Given the description of an element on the screen output the (x, y) to click on. 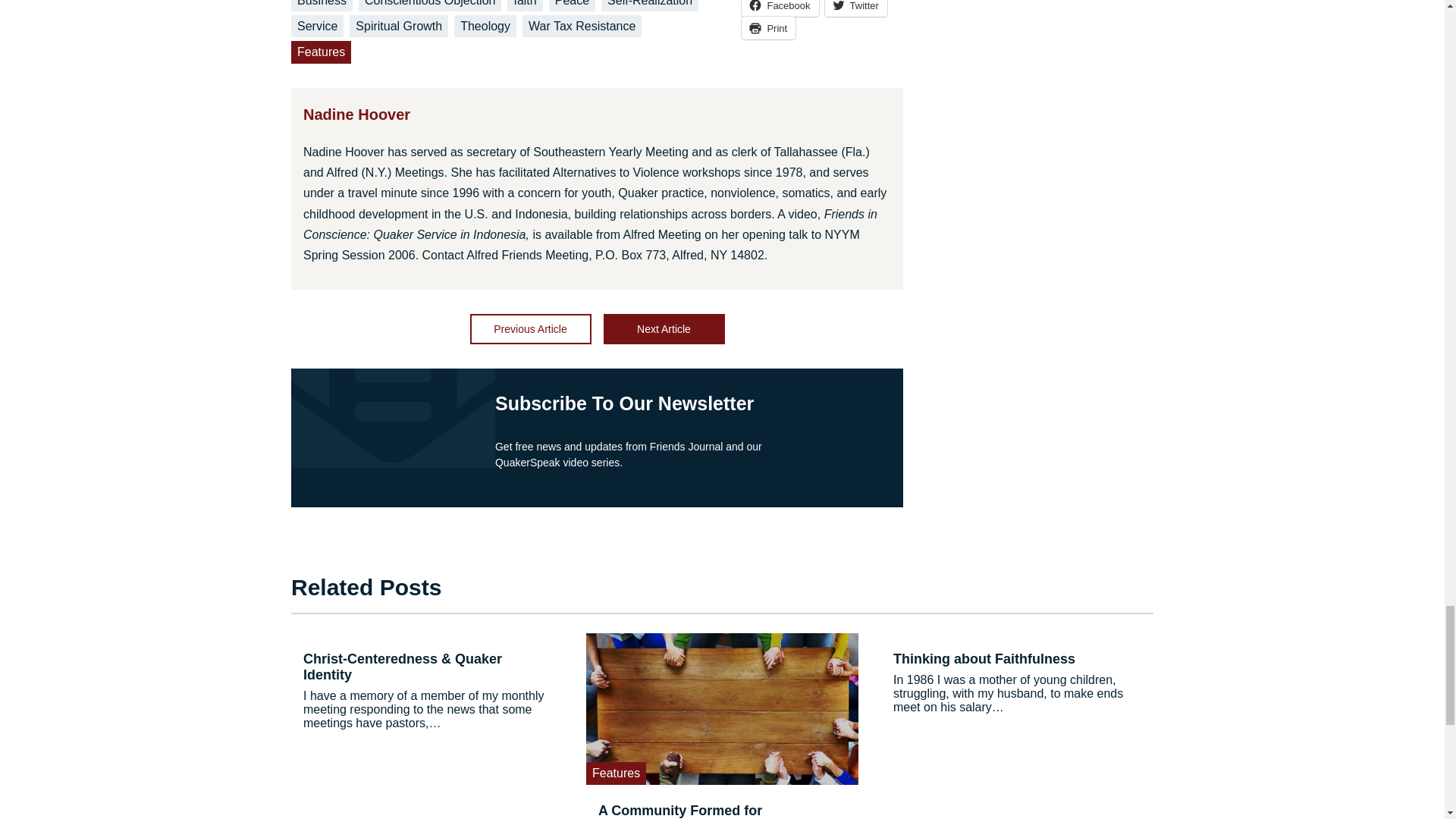
Next Article (664, 328)
Twitter (855, 8)
Features (320, 51)
Facebook (779, 8)
Nadine Hoover (356, 114)
Click to print (767, 27)
War Tax Resistance (582, 25)
Theology (485, 25)
Spiritual Growth (398, 25)
Business (321, 5)
faith (523, 5)
Click to share on Facebook (779, 8)
Service (317, 25)
Print (767, 27)
Conscientious Objection (430, 5)
